Given the description of an element on the screen output the (x, y) to click on. 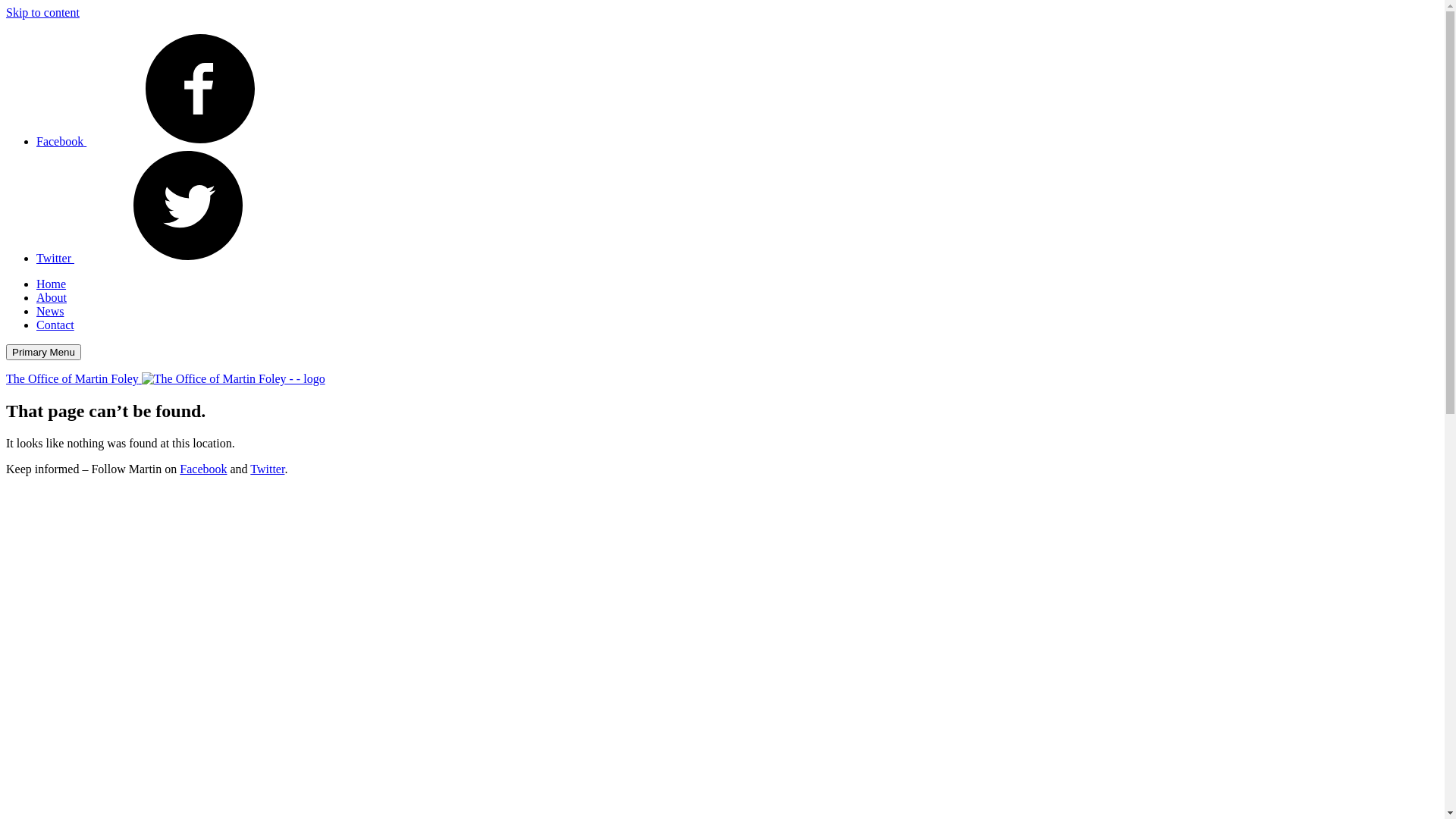
Contact Element type: text (55, 324)
Primary Menu Element type: text (43, 352)
Facebook Element type: text (174, 140)
About Element type: text (51, 297)
Facebook Element type: text (202, 468)
News Element type: text (49, 310)
The Office of Martin Foley Element type: text (165, 378)
Skip to content Element type: text (42, 12)
Twitter Element type: text (267, 468)
Twitter Element type: text (168, 257)
Home Element type: text (50, 283)
